Given the description of an element on the screen output the (x, y) to click on. 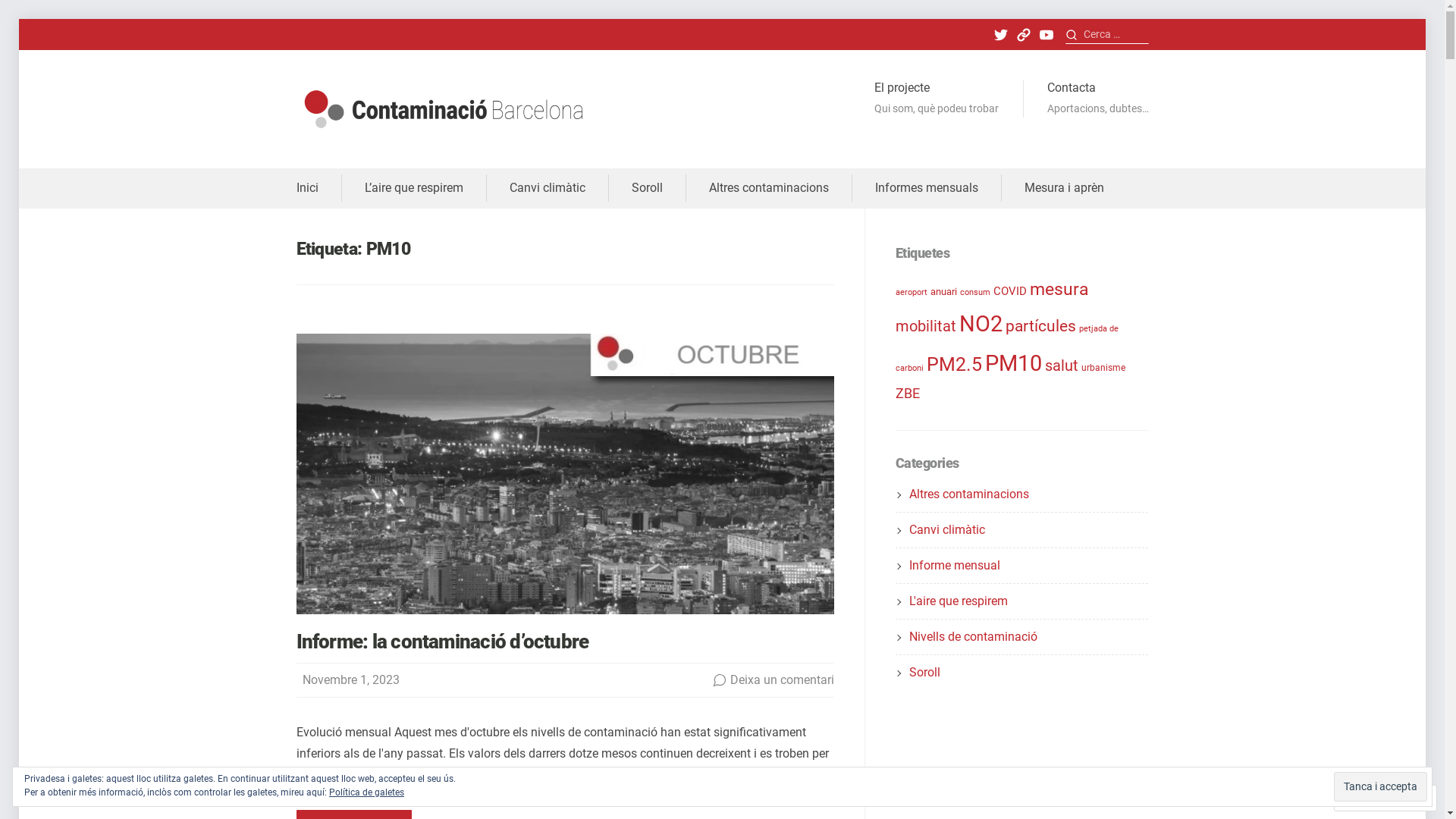
Inici Element type: text (306, 187)
ZBE Element type: text (907, 393)
Tanca i accepta Element type: text (1380, 786)
Deixa un comentari Element type: text (782, 679)
Altres contaminacions Element type: text (969, 493)
PM2.5 Element type: text (954, 364)
PM10 Element type: text (1013, 363)
aeroport Element type: text (911, 292)
Soroll Element type: text (646, 187)
COVID Element type: text (1009, 291)
Informe mensual Element type: text (954, 565)
Soroll Element type: text (924, 672)
Segueix Element type: text (1371, 797)
mobilitat Element type: text (925, 325)
consum Element type: text (975, 292)
salut Element type: text (1061, 365)
Altres contaminacions Element type: text (768, 187)
petjada de carboni Element type: text (1006, 347)
mesura Element type: text (1058, 288)
NO2 Element type: text (980, 323)
L'aire que respirem Element type: text (958, 600)
urbanisme Element type: text (1103, 367)
Informes mensuals Element type: text (926, 187)
anuari Element type: text (943, 291)
